Given the description of an element on the screen output the (x, y) to click on. 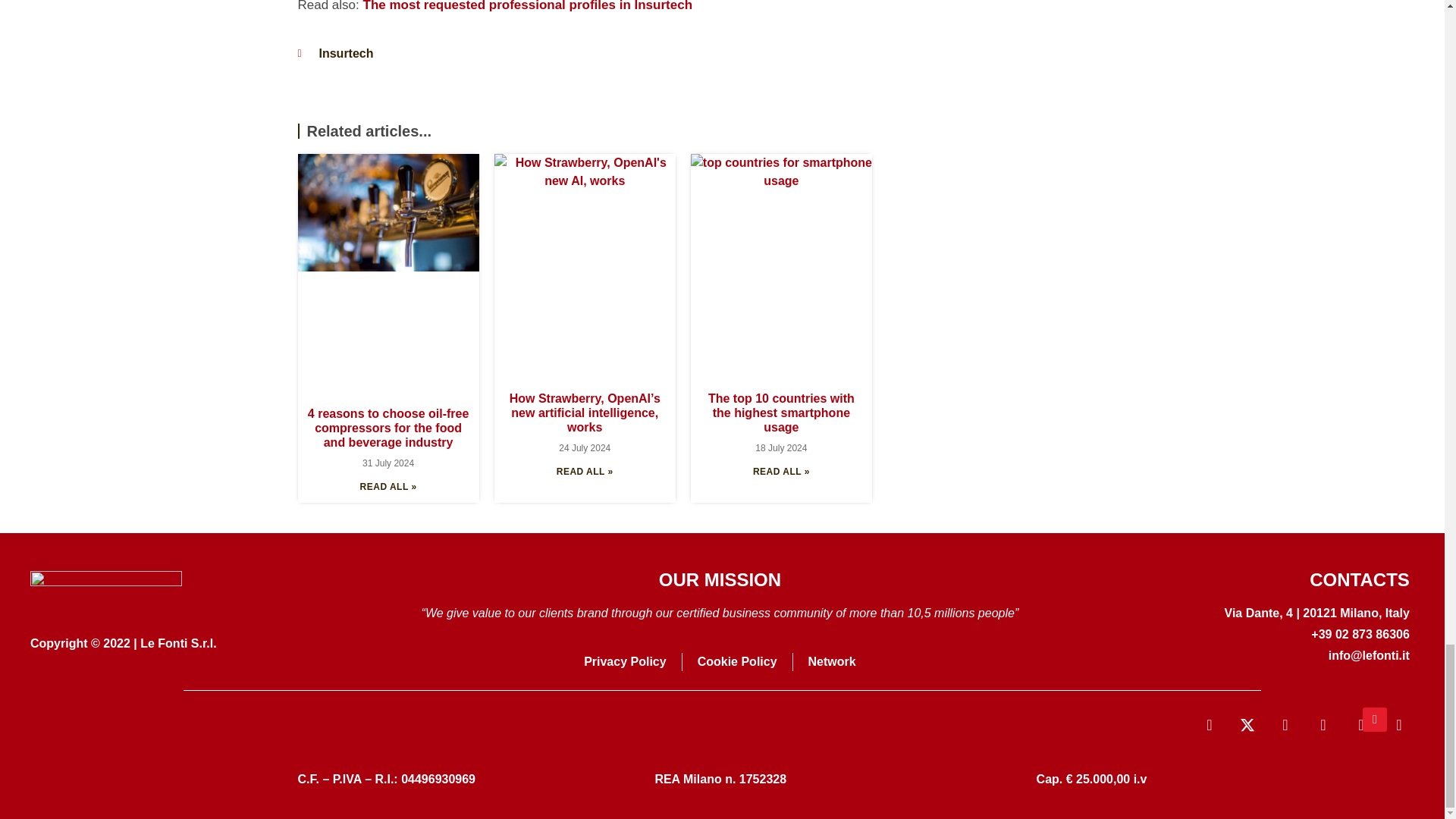
The most requested professional profiles in Insurtech (527, 6)
Insurtech (345, 52)
